Given the description of an element on the screen output the (x, y) to click on. 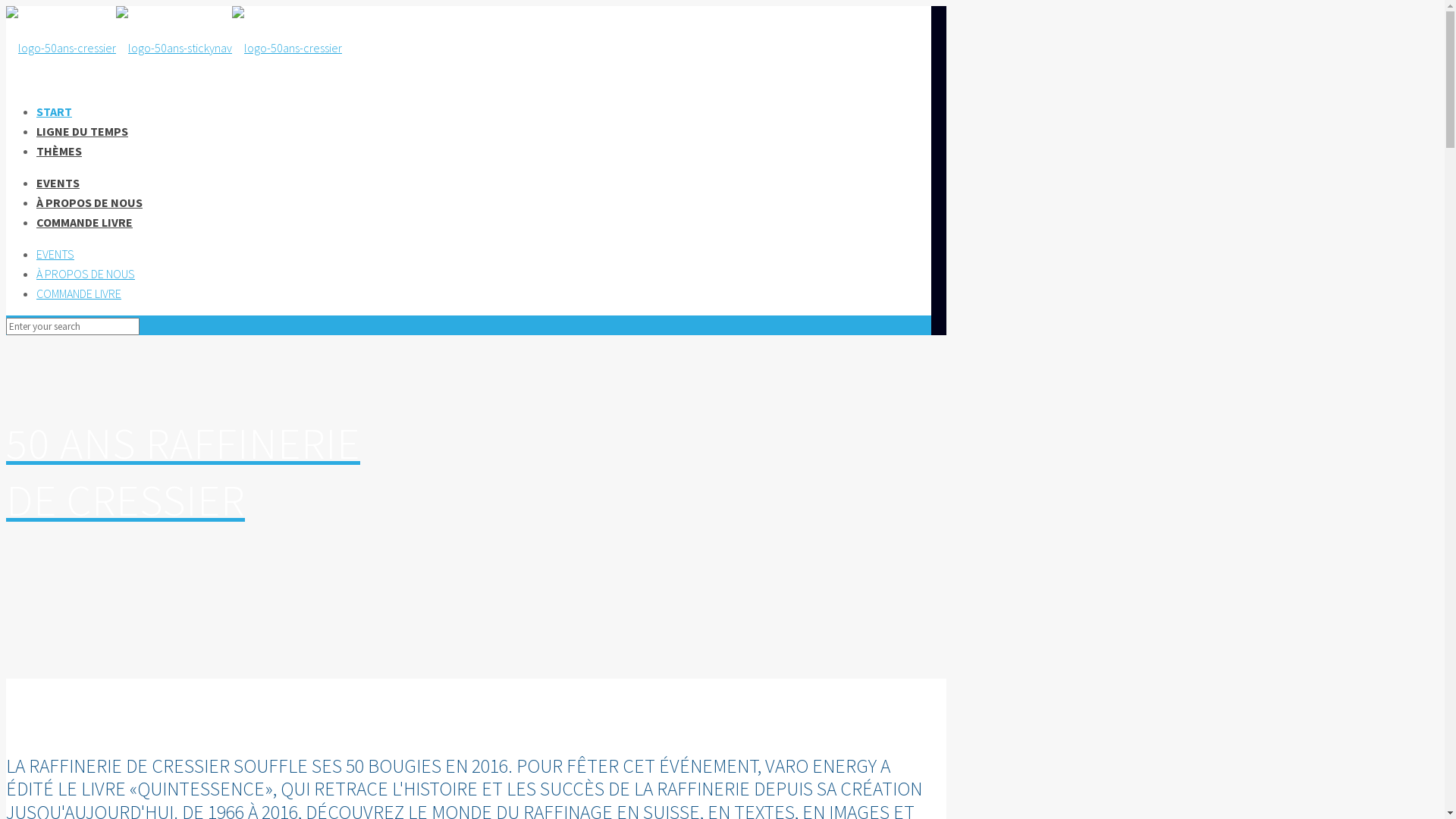
LIGNE DU TEMPS Element type: text (82, 130)
50 ANS RAFFINERIE
DE CRESSIER Element type: text (468, 515)
EVENTS Element type: text (55, 253)
START Element type: text (54, 111)
EVENTS Element type: text (57, 182)
50 Ans Raffinerie Cressier Element type: hover (174, 47)
COMMANDE LIVRE Element type: text (78, 293)
COMMANDE LIVRE Element type: text (84, 221)
